Given the description of an element on the screen output the (x, y) to click on. 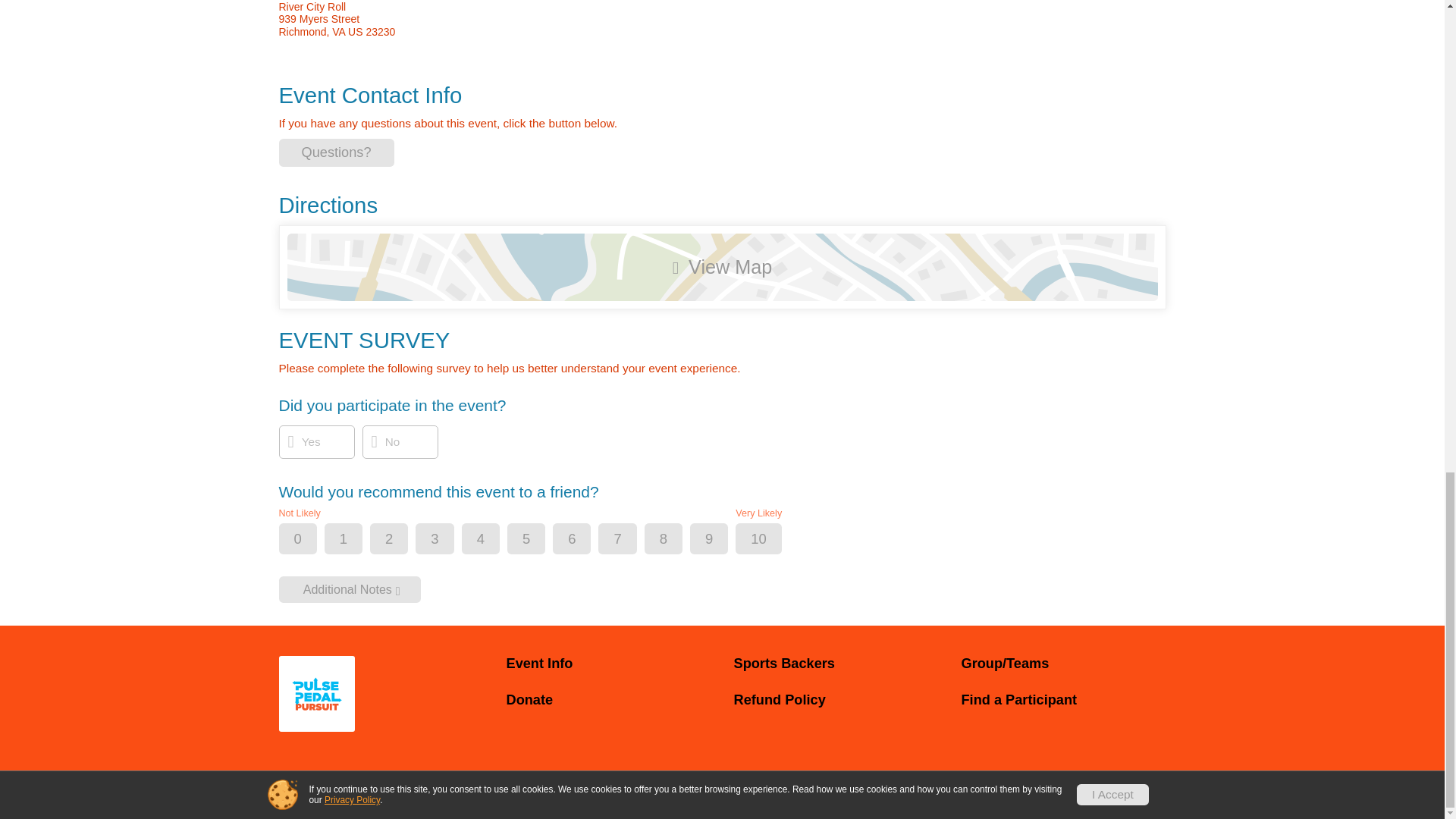
5 (539, 539)
6 (584, 539)
10 (770, 539)
3 (447, 539)
2 (401, 539)
8 (675, 539)
Donate (608, 700)
4 (493, 539)
Event Info (608, 663)
1 (355, 539)
Additional Notes (349, 589)
Questions? (336, 152)
View Map (721, 267)
7 (629, 539)
9 (721, 539)
